Given the description of an element on the screen output the (x, y) to click on. 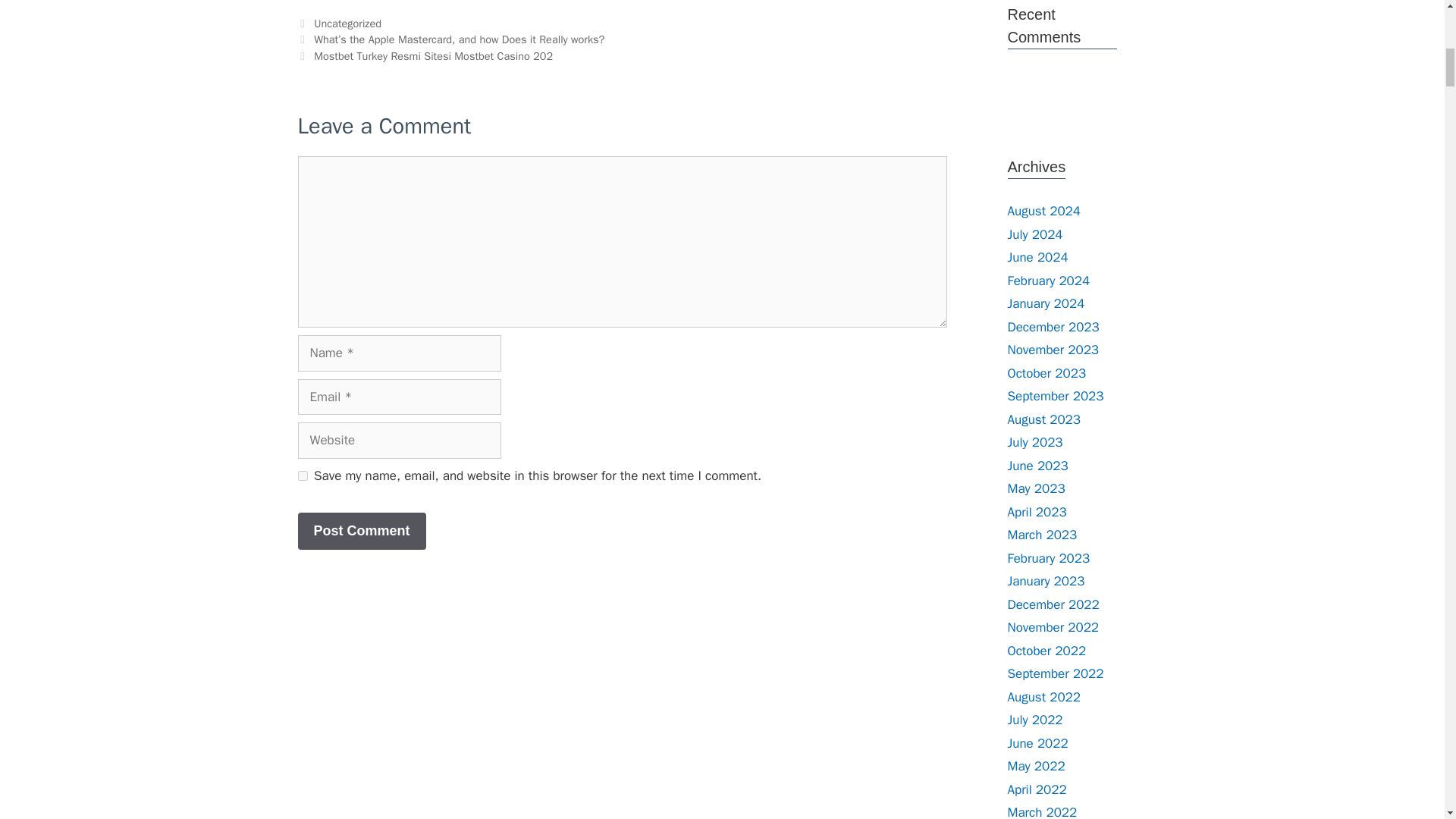
November 2023 (1053, 349)
Mostbet Turkey Resmi Sitesi Mostbet Casino 202 (433, 56)
Uncategorized (347, 23)
September 2023 (1055, 396)
August 2023 (1043, 418)
July 2024 (1034, 233)
yes (302, 475)
June 2024 (1037, 257)
Scroll back to top (1406, 720)
June 2023 (1037, 465)
January 2024 (1045, 303)
Post Comment (361, 530)
February 2024 (1048, 280)
Post Comment (361, 530)
August 2024 (1043, 211)
